Given the description of an element on the screen output the (x, y) to click on. 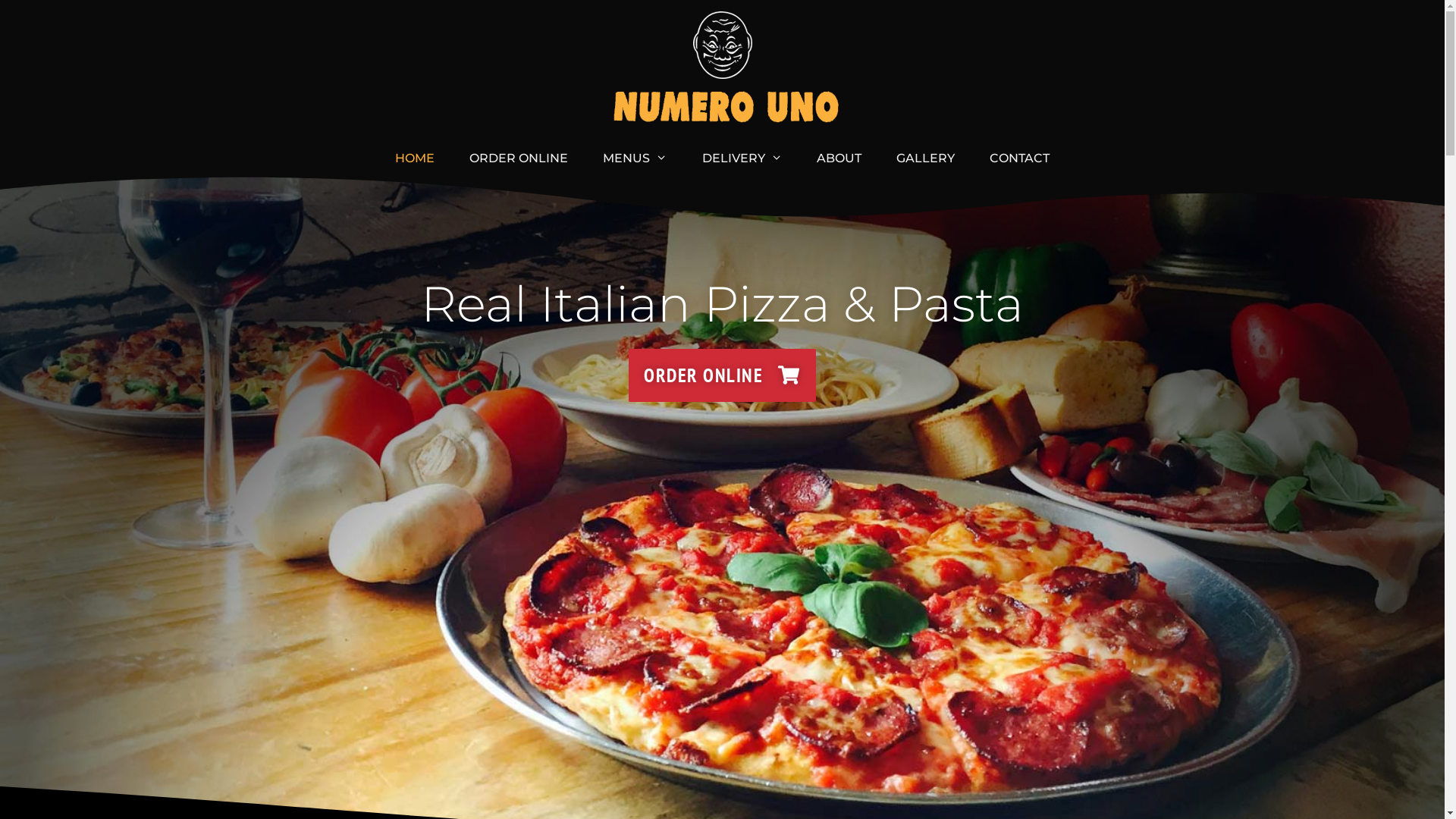
DELIVERY Element type: text (741, 158)
MENUS Element type: text (634, 158)
ORDER ONLINE Element type: text (518, 158)
HOME Element type: text (414, 158)
ORDER ONLINE Element type: text (721, 374)
CONTACT Element type: text (1019, 158)
GALLERY Element type: text (925, 158)
ABOUT Element type: text (838, 158)
